Given the description of an element on the screen output the (x, y) to click on. 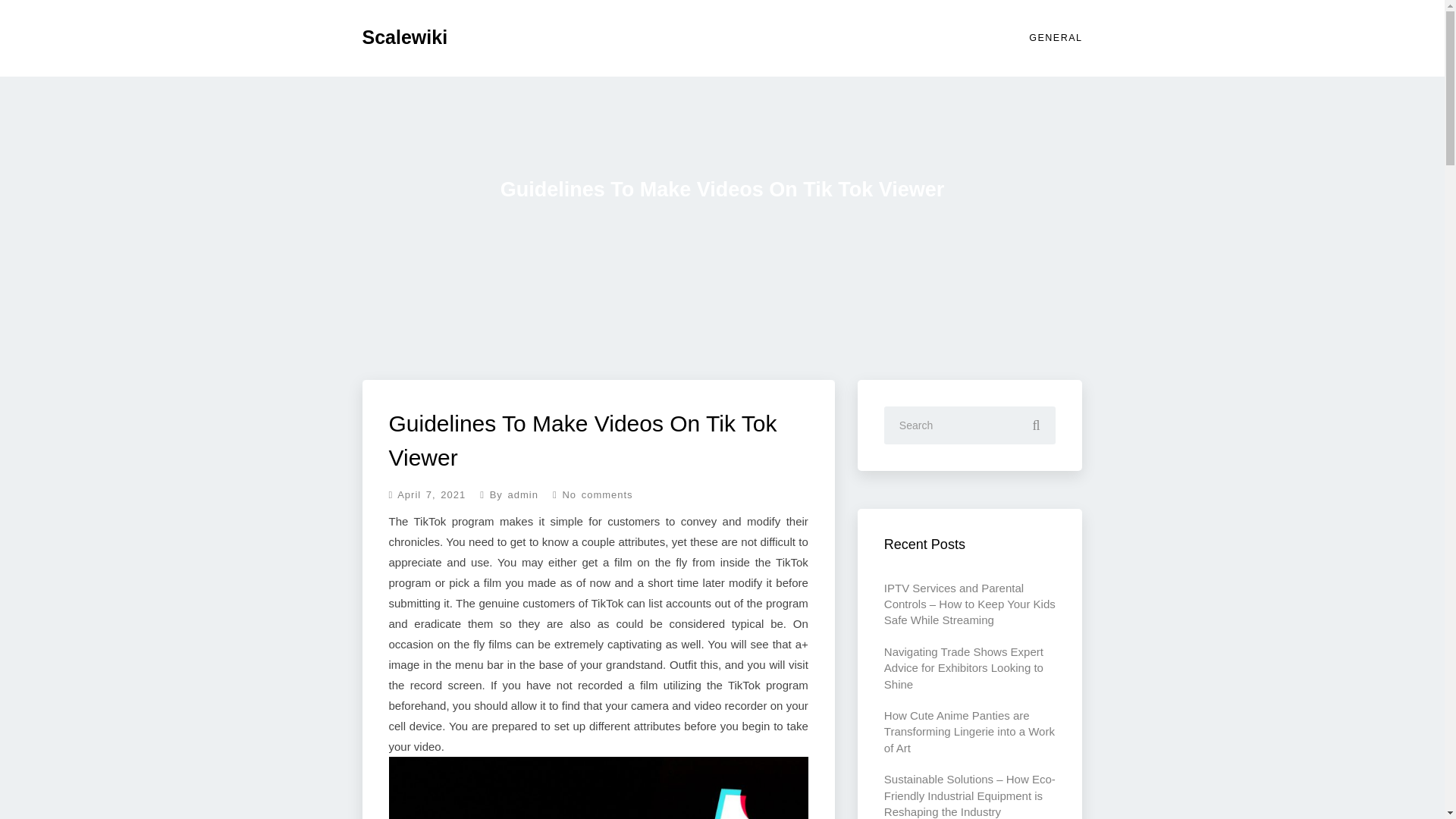
No comments (587, 493)
Scalewiki (405, 39)
GENERAL (1053, 38)
